Given the description of an element on the screen output the (x, y) to click on. 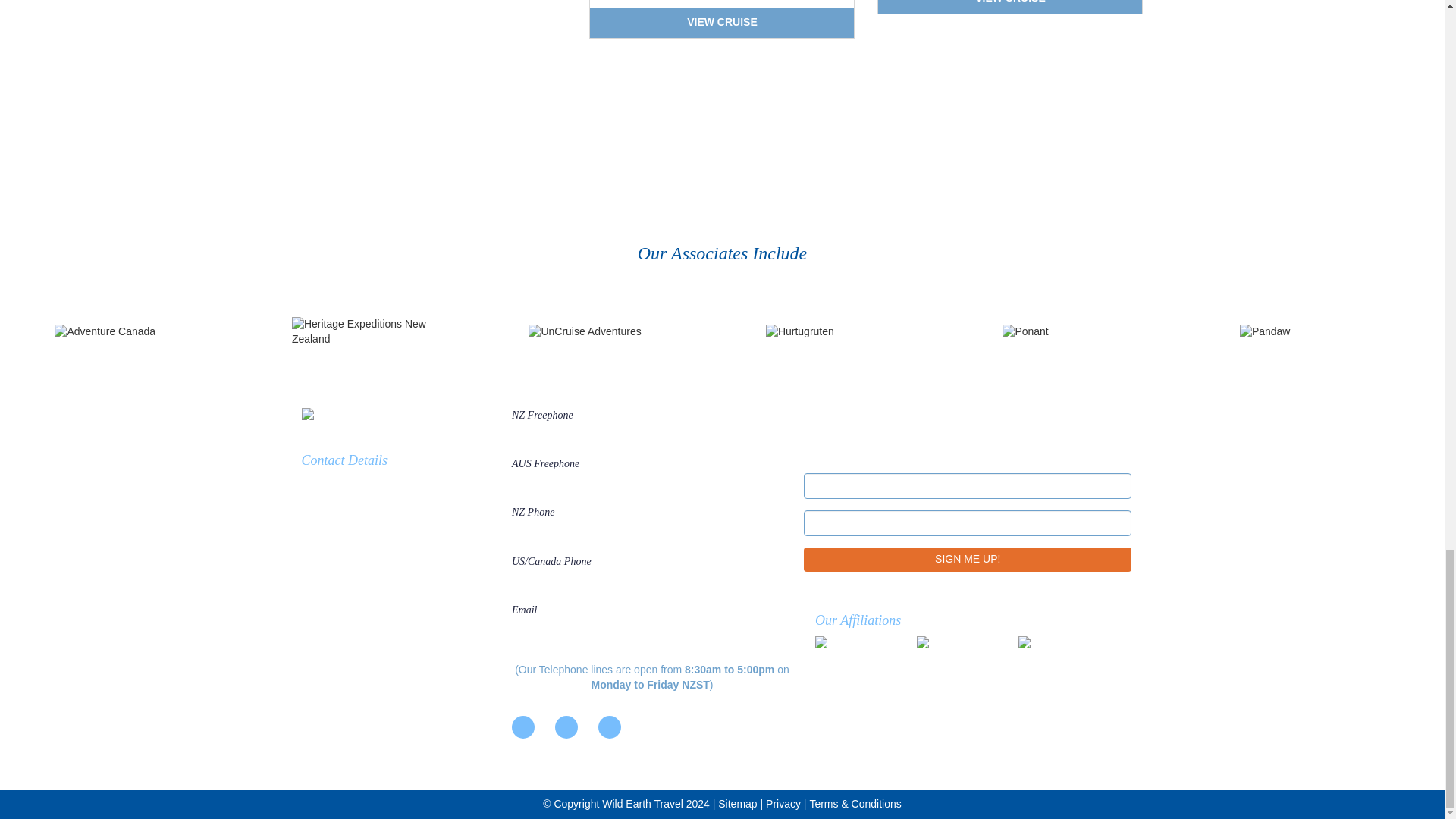
Hurtugruten (840, 331)
UnCruise Adventures (603, 331)
Small Cruise Ship Collection (1062, 651)
Adventure Canada (130, 331)
Ponant (1078, 331)
Heritage Expeditions New Zealand (367, 331)
Wild Earth Travel Footer Logo (400, 415)
Pandaw (1315, 331)
